Given the description of an element on the screen output the (x, y) to click on. 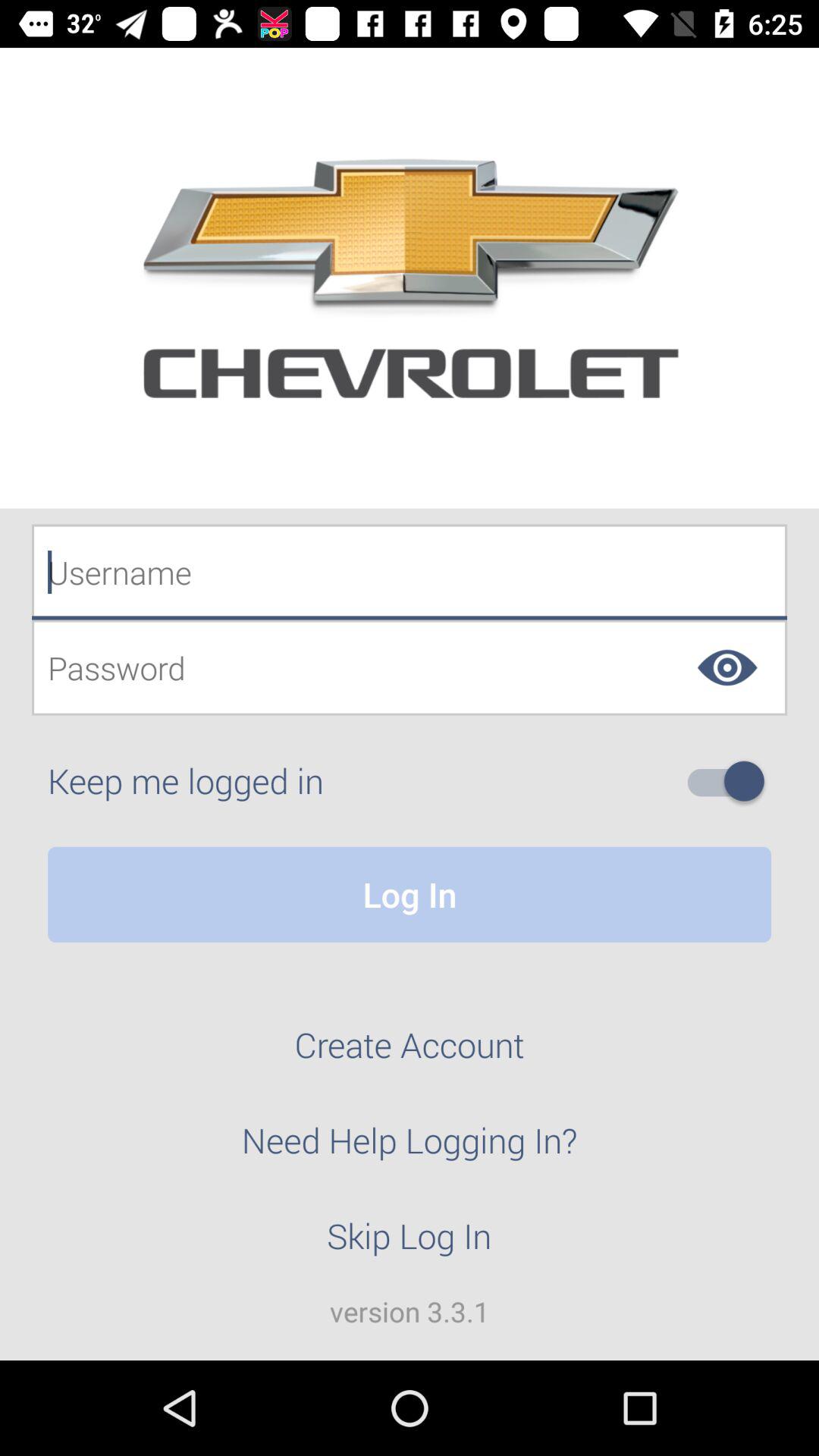
press item above the keep me logged item (409, 667)
